Given the description of an element on the screen output the (x, y) to click on. 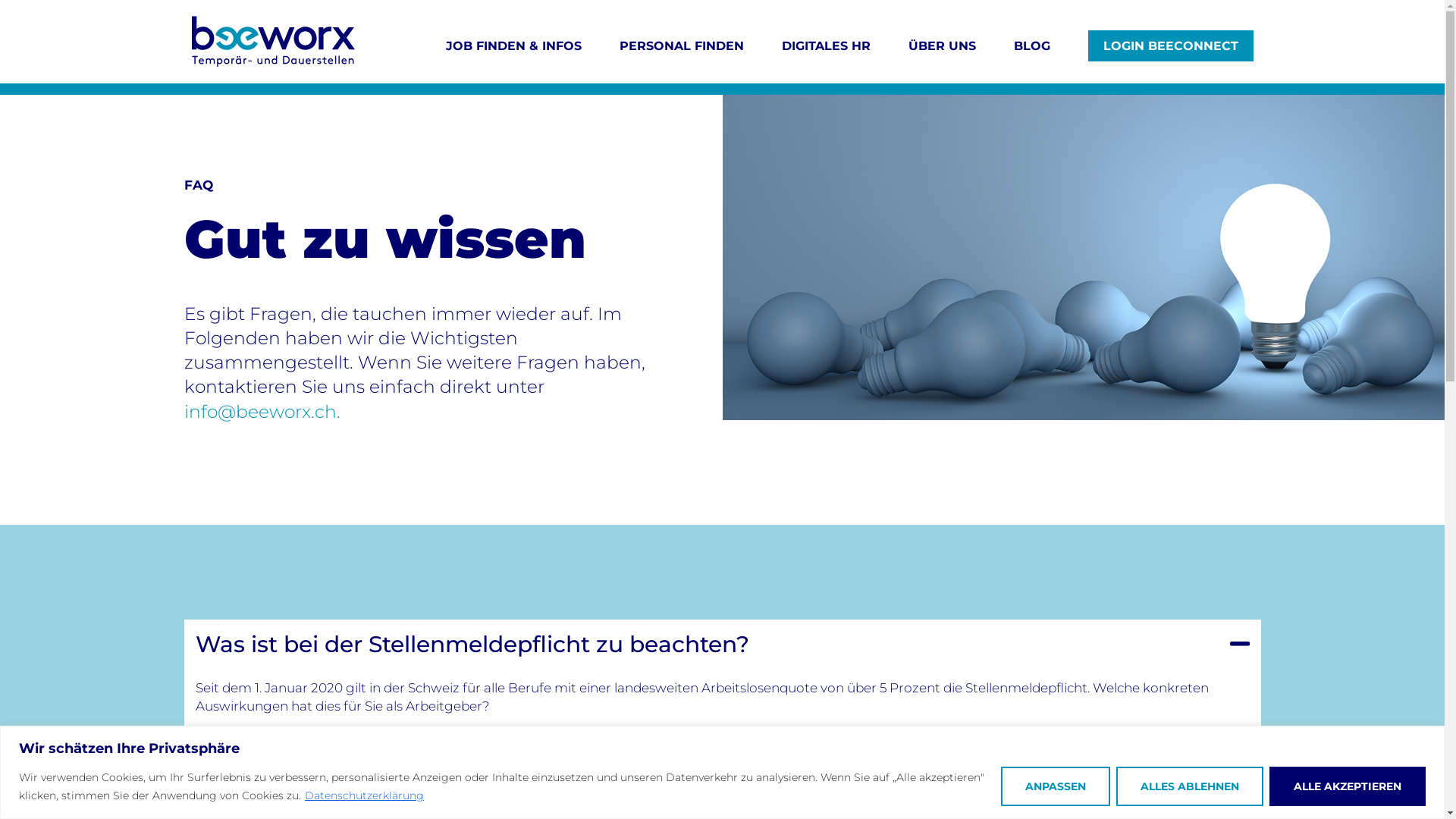
ALLES ABLEHNEN Element type: text (1189, 785)
PERSONAL FINDEN Element type: text (680, 45)
DIGITALES HR Element type: text (825, 45)
LOGIN BEECONNECT Element type: text (1169, 45)
BLOG Element type: text (1031, 45)
ANPASSEN Element type: text (1055, 785)
Was ist bei der Stellenmeldepflicht zu beachten? Element type: text (472, 643)
ALLE AKZEPTIEREN Element type: text (1347, 785)
info@beeworx.ch. Element type: text (261, 411)
JOB FINDEN & INFOS Element type: text (513, 45)
